Given the description of an element on the screen output the (x, y) to click on. 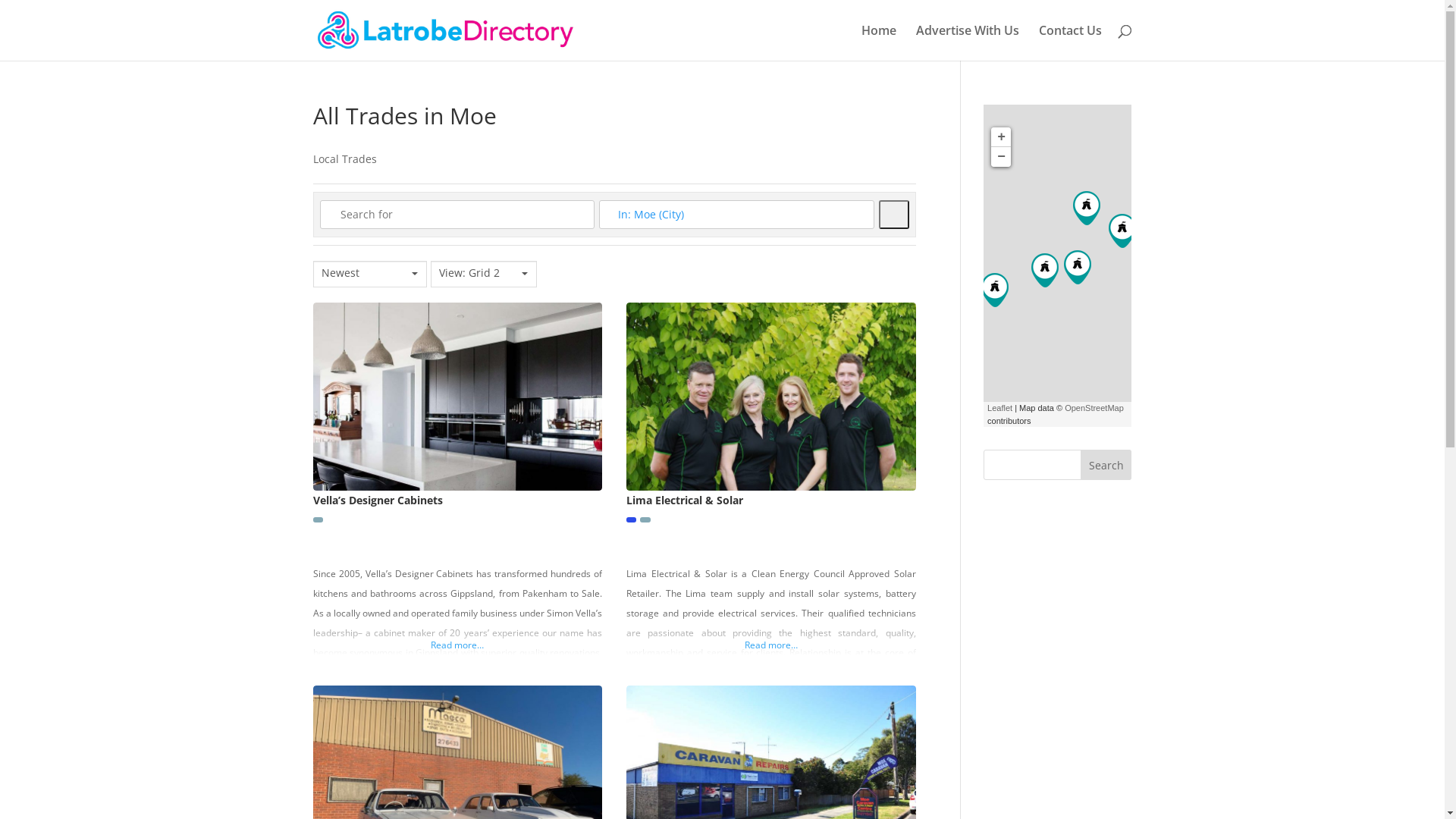
Website Element type: hover (644, 519)
Lima Electrical & Solar Element type: hover (1121, 230)
Website Element type: hover (317, 519)
Leaflet Element type: text (999, 407)
Contact Us Element type: text (1069, 42)
Advertise With Us Element type: text (967, 42)
+ Element type: text (1000, 137)
Add to Favourites Element type: hover (914, 543)
Search Element type: text (893, 214)
Search Element type: text (1106, 464)
Lima Electrical & Solar Element type: text (684, 499)
Home Element type: text (878, 42)
Add to Favourites Element type: hover (600, 543)
In: Moe (City) Element type: text (736, 214)
Moe Caravan Service & Repair Centre Element type: hover (1044, 270)
Maeco Element type: hover (1077, 267)
OpenStreetMap Element type: text (1093, 407)
Facebook Element type: hover (631, 519)
Alans Panels Element type: hover (1086, 208)
